Given the description of an element on the screen output the (x, y) to click on. 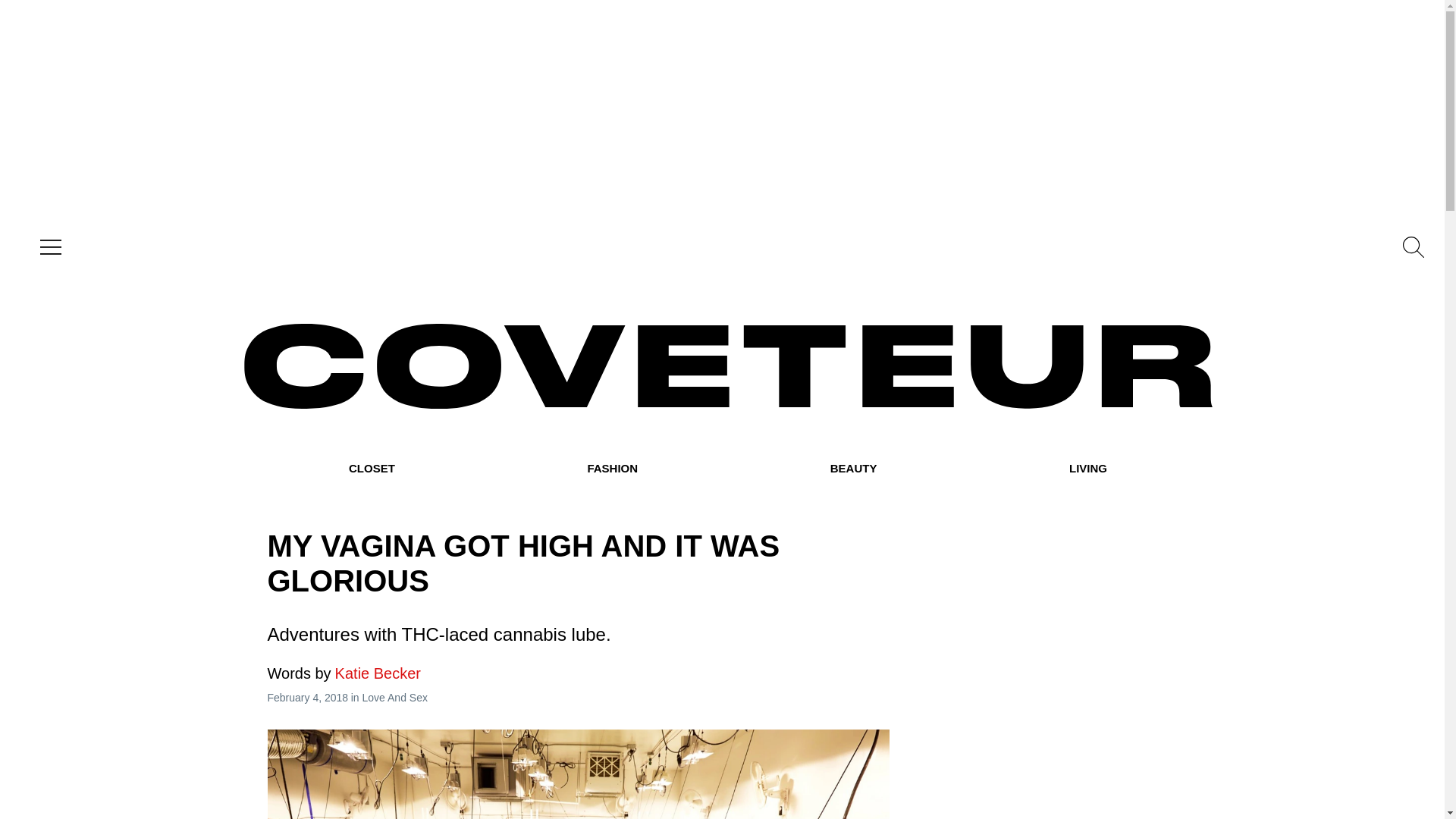
Love And Sex (395, 697)
FASHION (611, 468)
Katie Becker (343, 673)
CLOSET (371, 468)
menu (47, 246)
LIVING (1087, 468)
BEAUTY (853, 468)
